Given the description of an element on the screen output the (x, y) to click on. 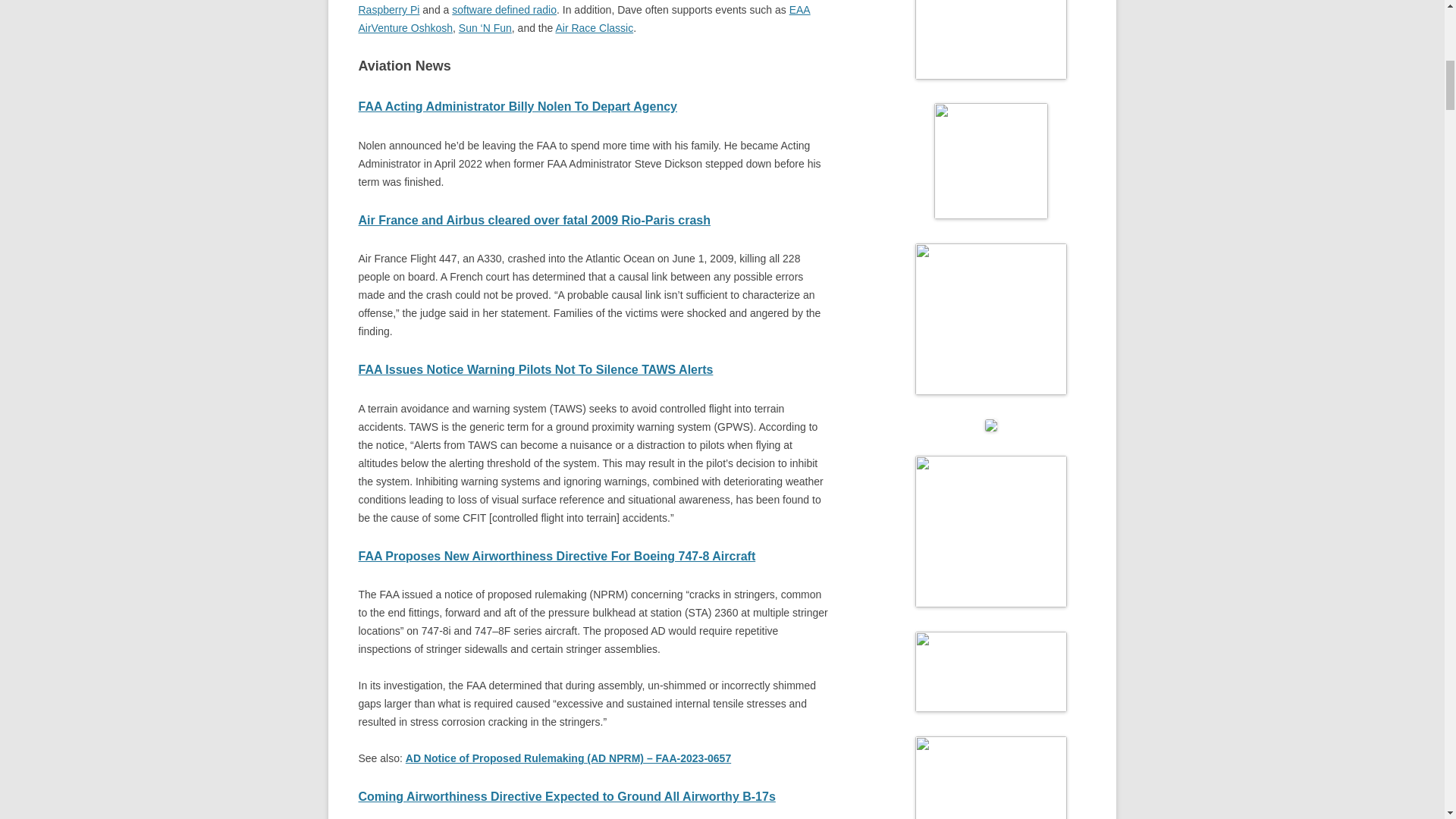
EAA AirVenture Oshkosh (583, 19)
FAA Proposes New Airw (427, 555)
Raspberry Pi (388, 9)
FAA Issues Notice Warning Pilots Not To Silence TAWS Alerts (535, 369)
Air Race Classic (593, 28)
FAA Acting Administrator Billy Nolen To Depart Agency (517, 106)
software defined radio (503, 9)
orthiness Directive For Boeing 747-8 Aircraft (626, 555)
